Given the description of an element on the screen output the (x, y) to click on. 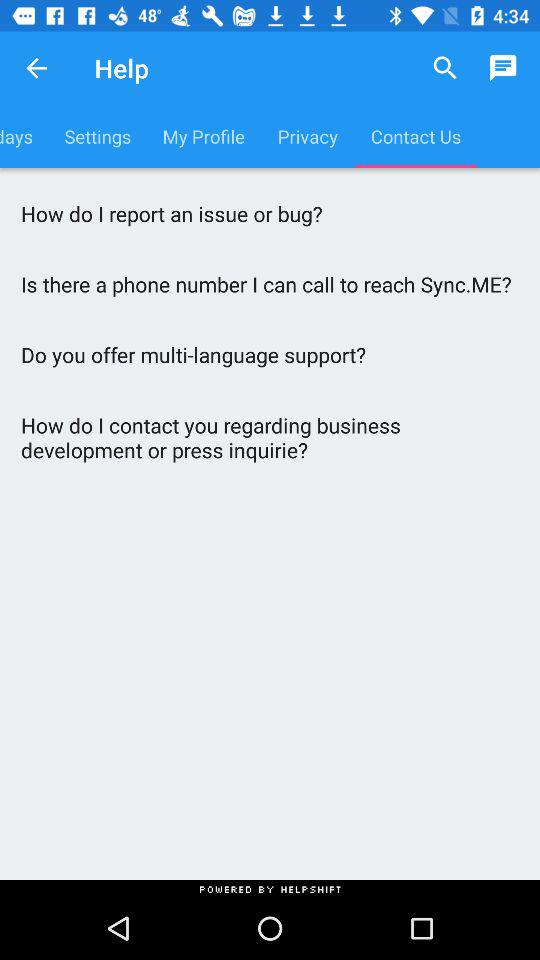
click the item to the left of the help icon (36, 68)
